Given the description of an element on the screen output the (x, y) to click on. 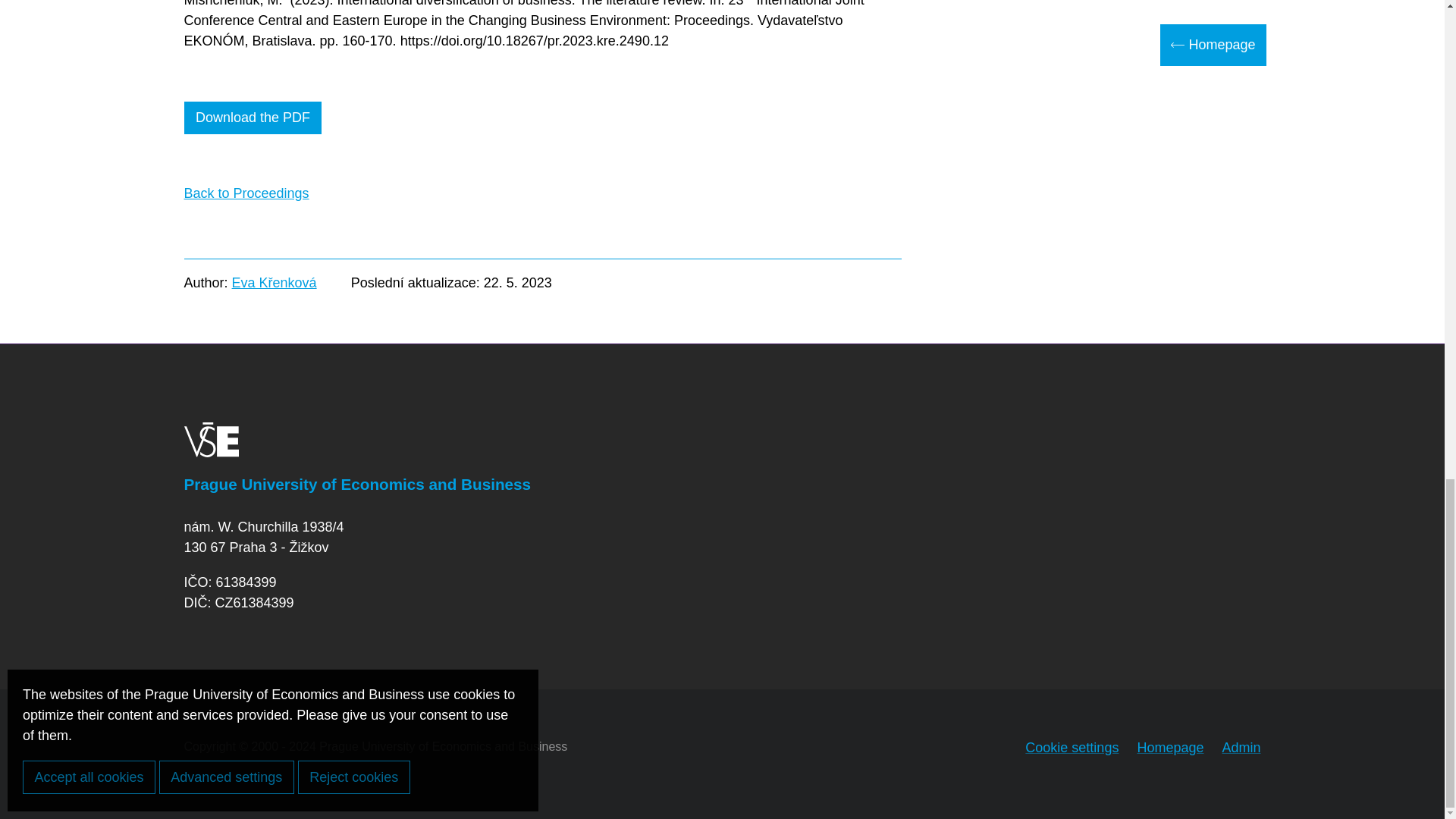
Back to Proceedings (245, 192)
Admin (1240, 747)
Homepage (1170, 747)
Download the PDF (252, 117)
Cookie settings (1071, 747)
